Given the description of an element on the screen output the (x, y) to click on. 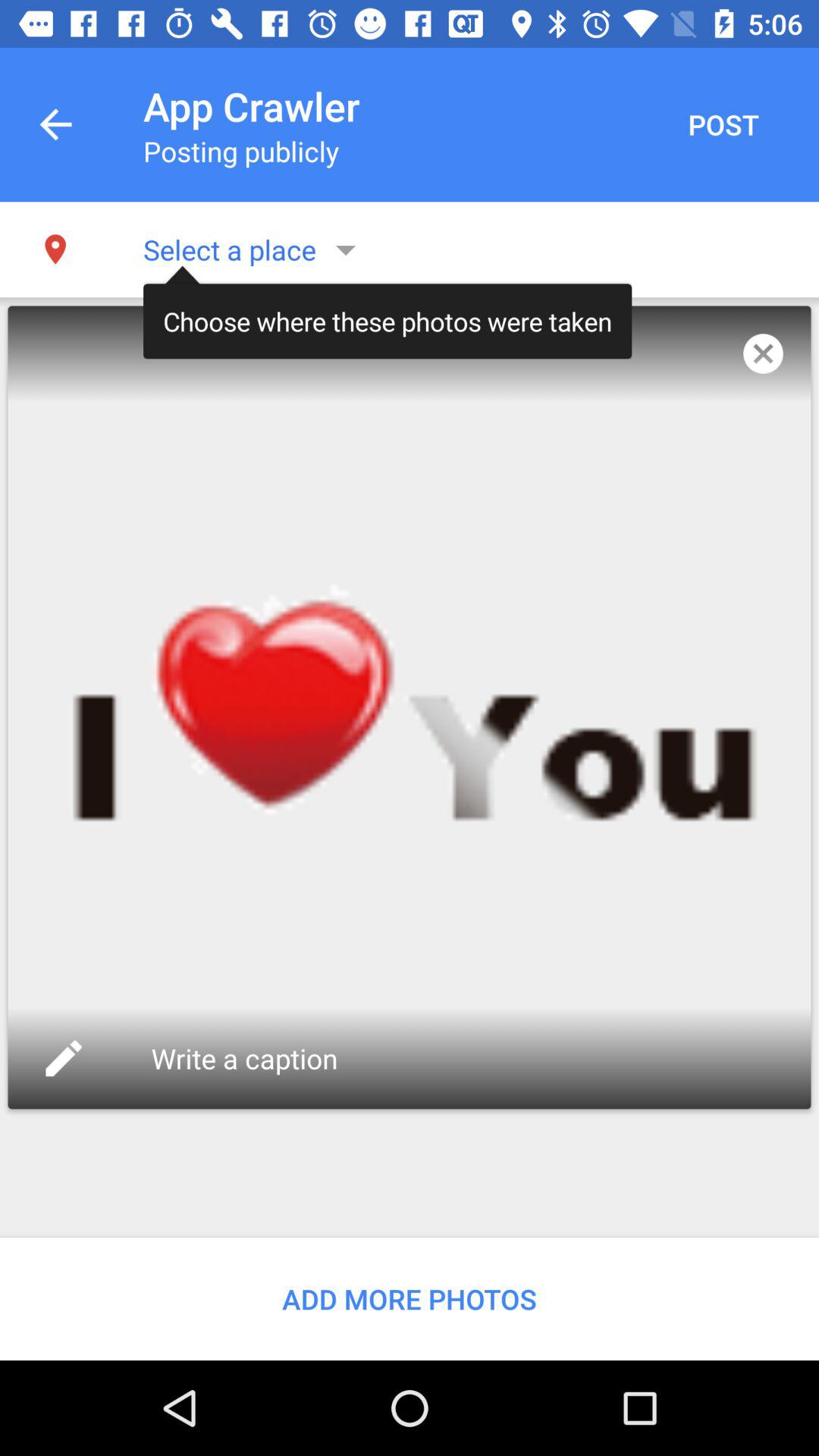
select the app to the right of choose where these item (763, 353)
